Given the description of an element on the screen output the (x, y) to click on. 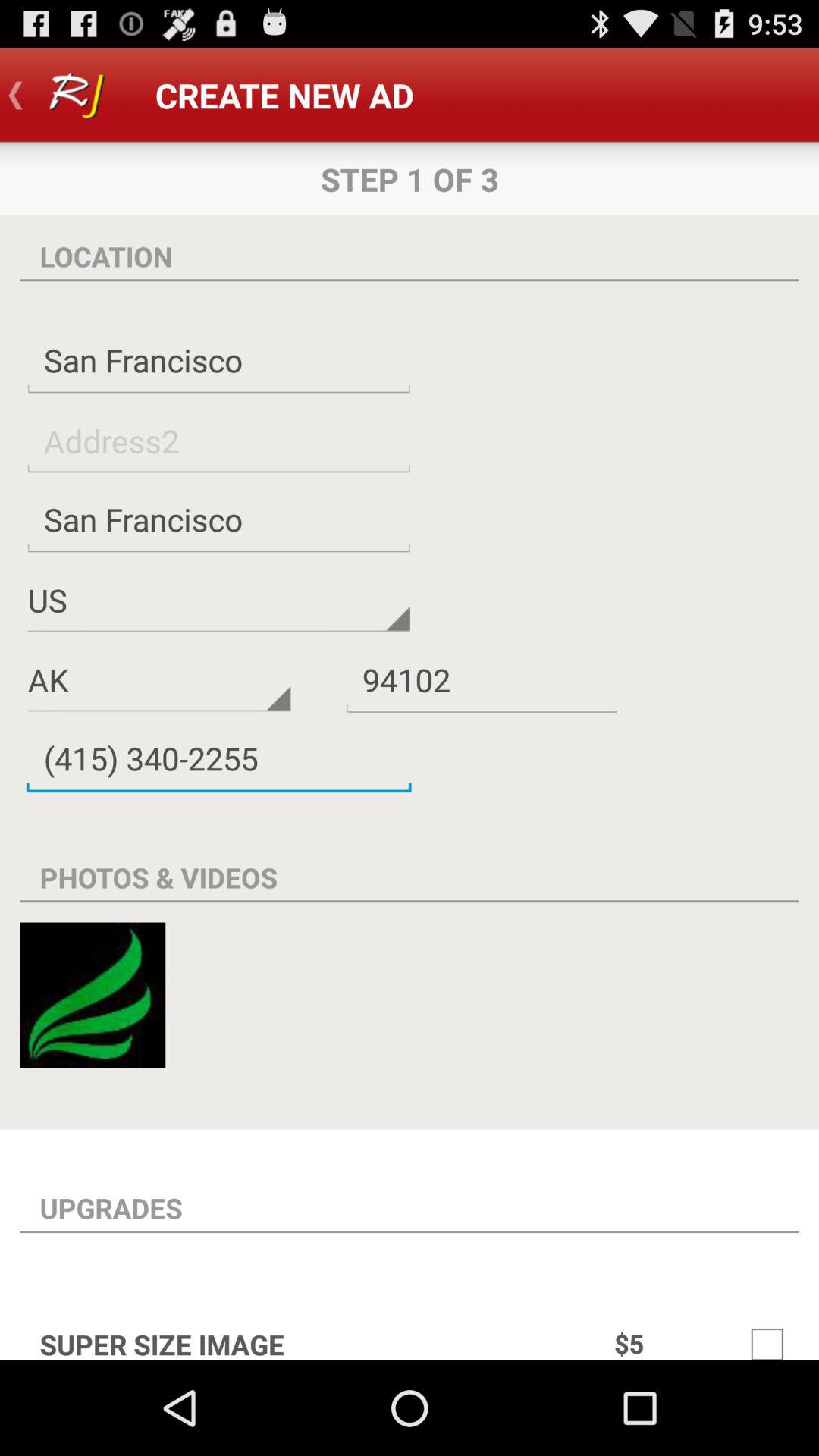
tick button (767, 1336)
